Given the description of an element on the screen output the (x, y) to click on. 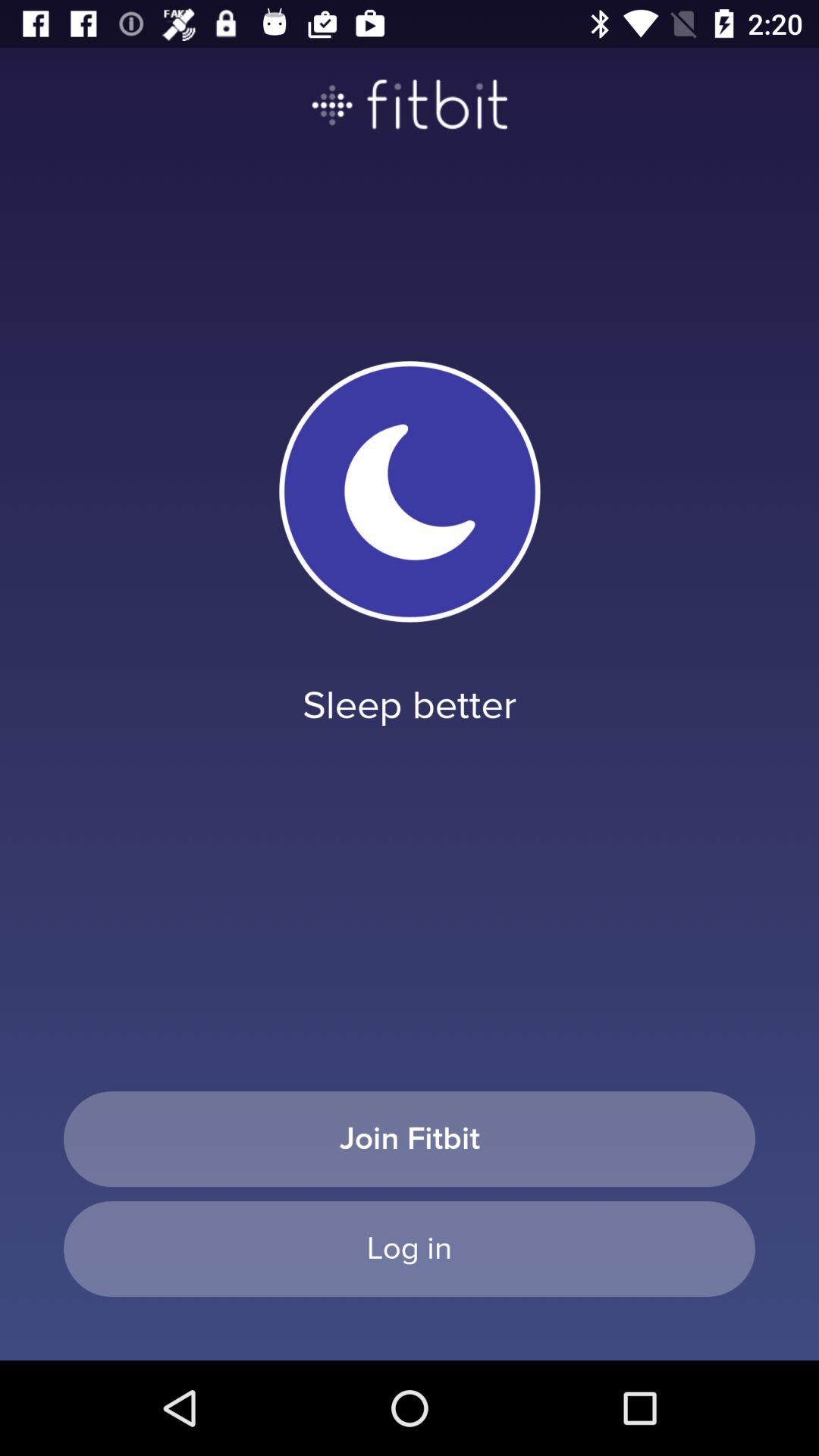
open join fitbit item (409, 1138)
